Given the description of an element on the screen output the (x, y) to click on. 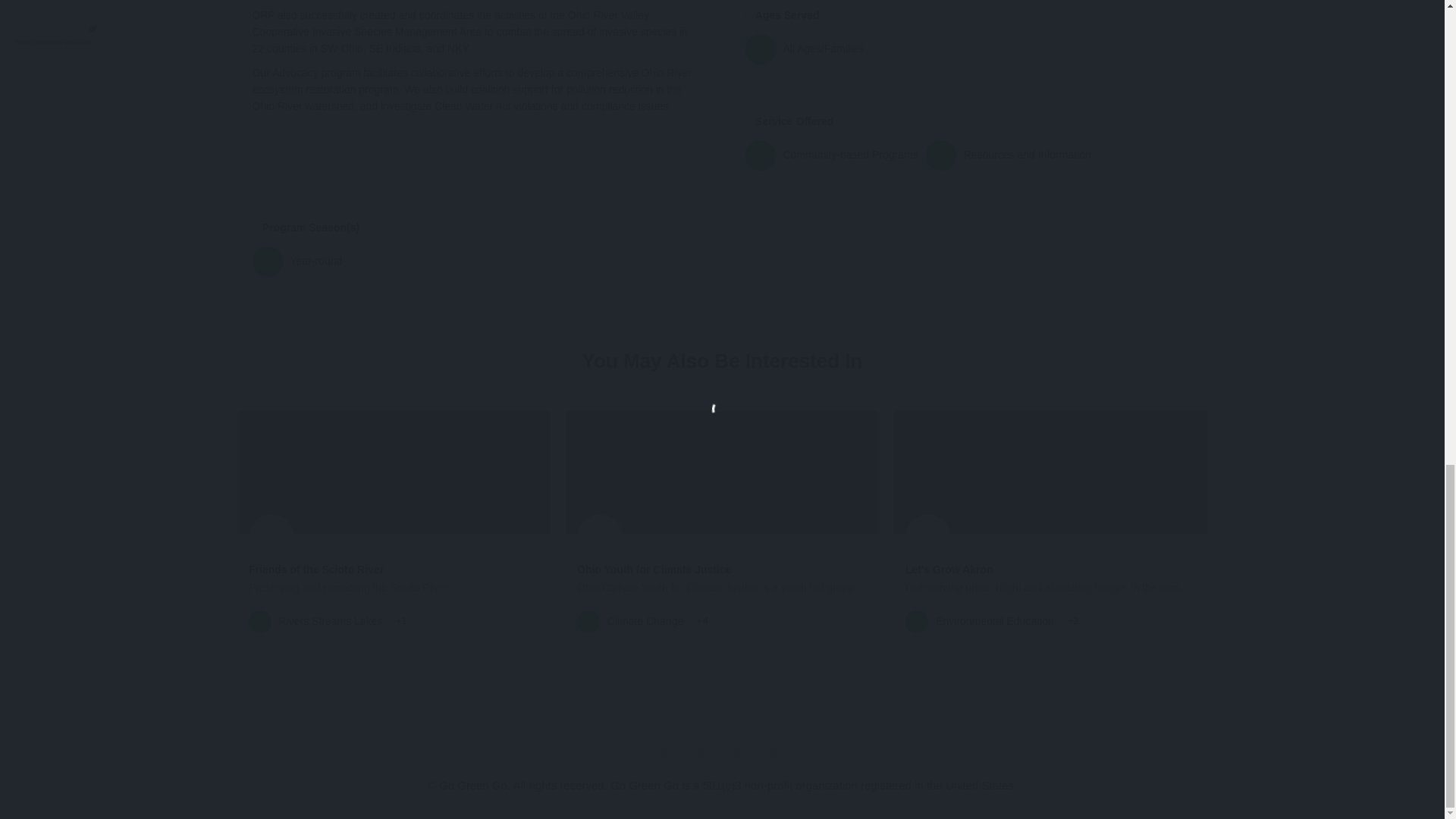
Year-round (471, 261)
Resources and Information (1008, 155)
Rivers Streams Lakes (315, 621)
Community-based Programs (830, 155)
